Given the description of an element on the screen output the (x, y) to click on. 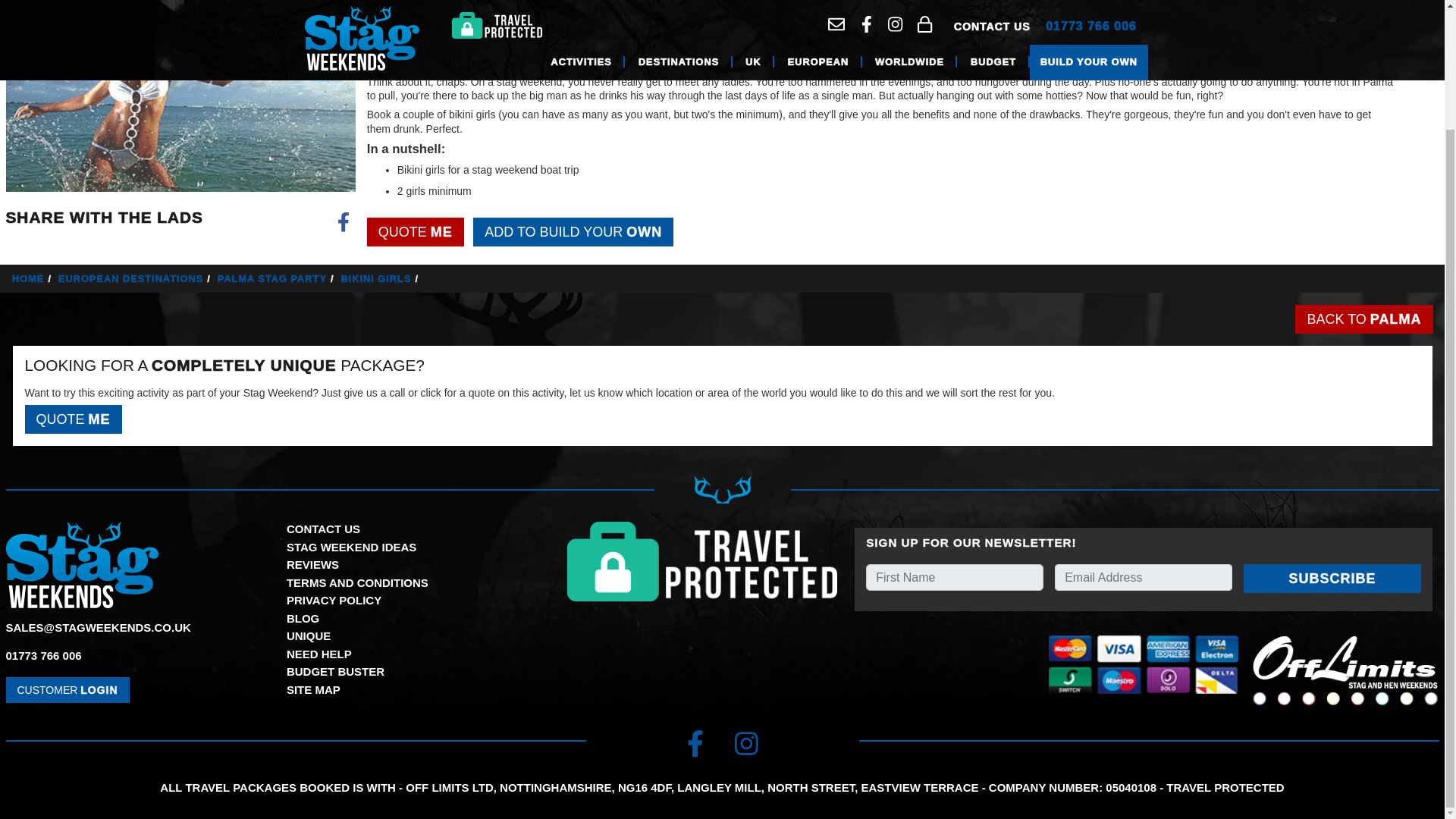
BLOG (302, 617)
TERMS AND CONDITIONS (357, 581)
BIKINI GIRLS (381, 278)
UNIQUE (308, 635)
CONTACT US (322, 528)
SUBSCRIBE (1332, 578)
HOME (33, 278)
BUDGET BUSTER (335, 671)
PALMA STAG PARTY (276, 278)
NEED HELP (319, 653)
